Given the description of an element on the screen output the (x, y) to click on. 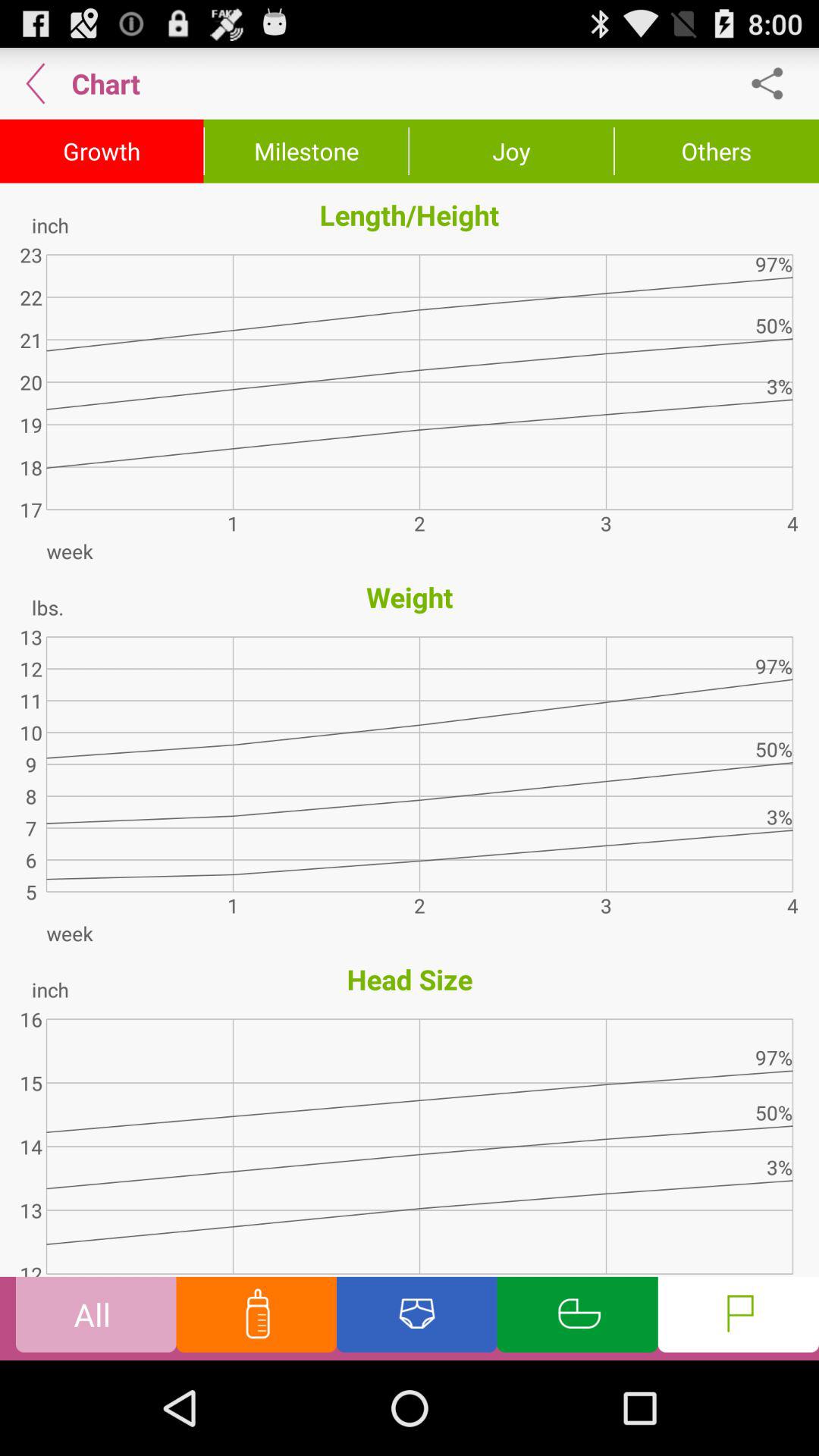
view feedings (256, 1318)
